Given the description of an element on the screen output the (x, y) to click on. 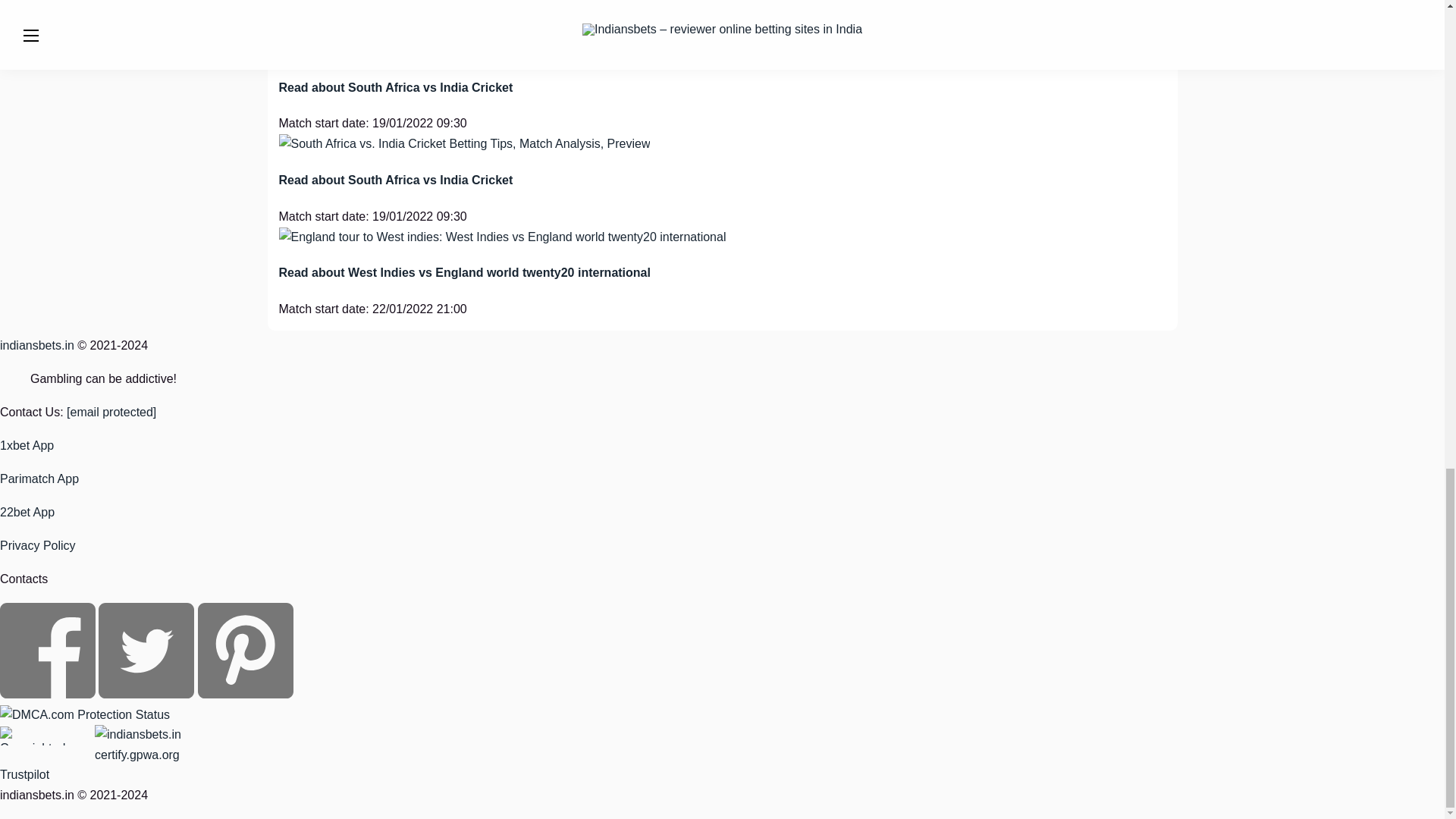
Read about South Africa vs India Cricket (396, 179)
indiansbets.in (37, 345)
Facebook (49, 694)
Read about South Africa vs India Cricket (396, 87)
Twitter (147, 694)
DMCA.com Protection Status (85, 714)
Pinterest (246, 694)
